Given the description of an element on the screen output the (x, y) to click on. 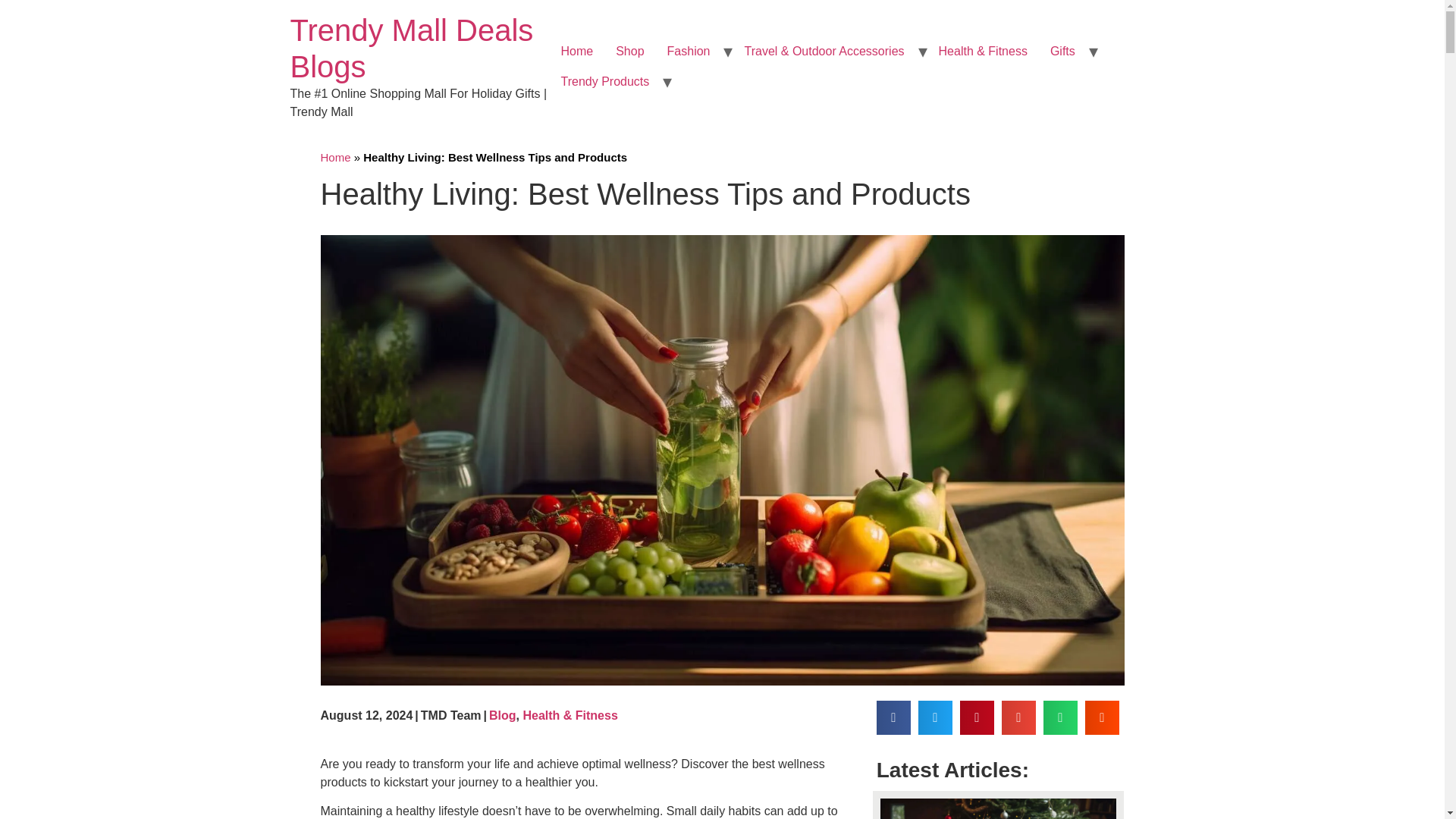
Gifts (1062, 51)
Home (410, 48)
Trendy Mall Deals Blogs (410, 48)
Home (576, 51)
Fashion (689, 51)
Trendy Products (604, 81)
Shop (629, 51)
